Given the description of an element on the screen output the (x, y) to click on. 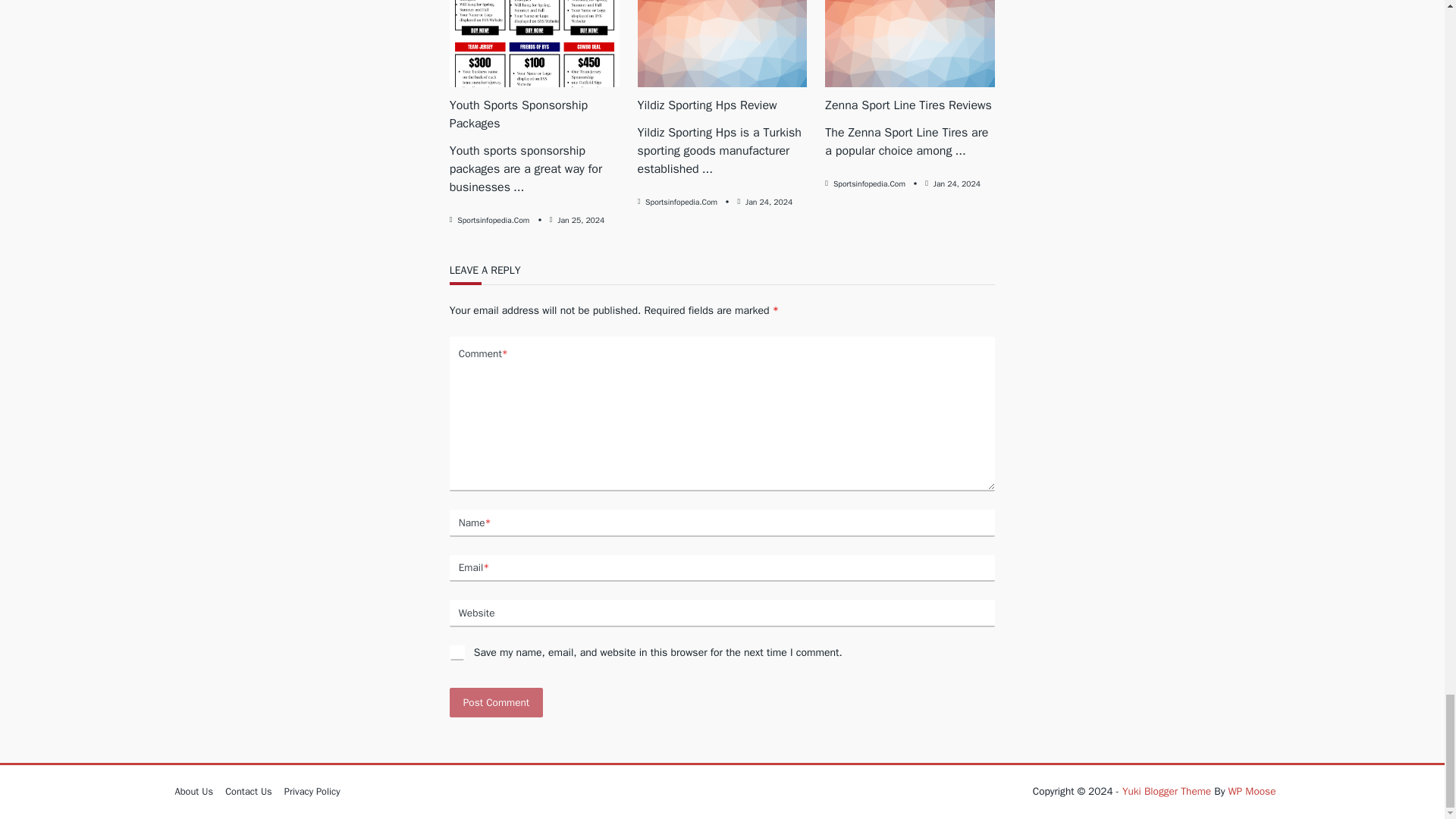
Jan 24, 2024 (768, 202)
Sportsinfopedia.Com (493, 220)
Yildiz Sporting Hps Review (707, 105)
Youth Sports Sponsorship Packages (518, 114)
yes (456, 652)
Sportsinfopedia.Com (681, 202)
Zenna Sport Line Tires Reviews (908, 105)
Jan 25, 2024 (580, 220)
Post Comment (496, 702)
